Given the description of an element on the screen output the (x, y) to click on. 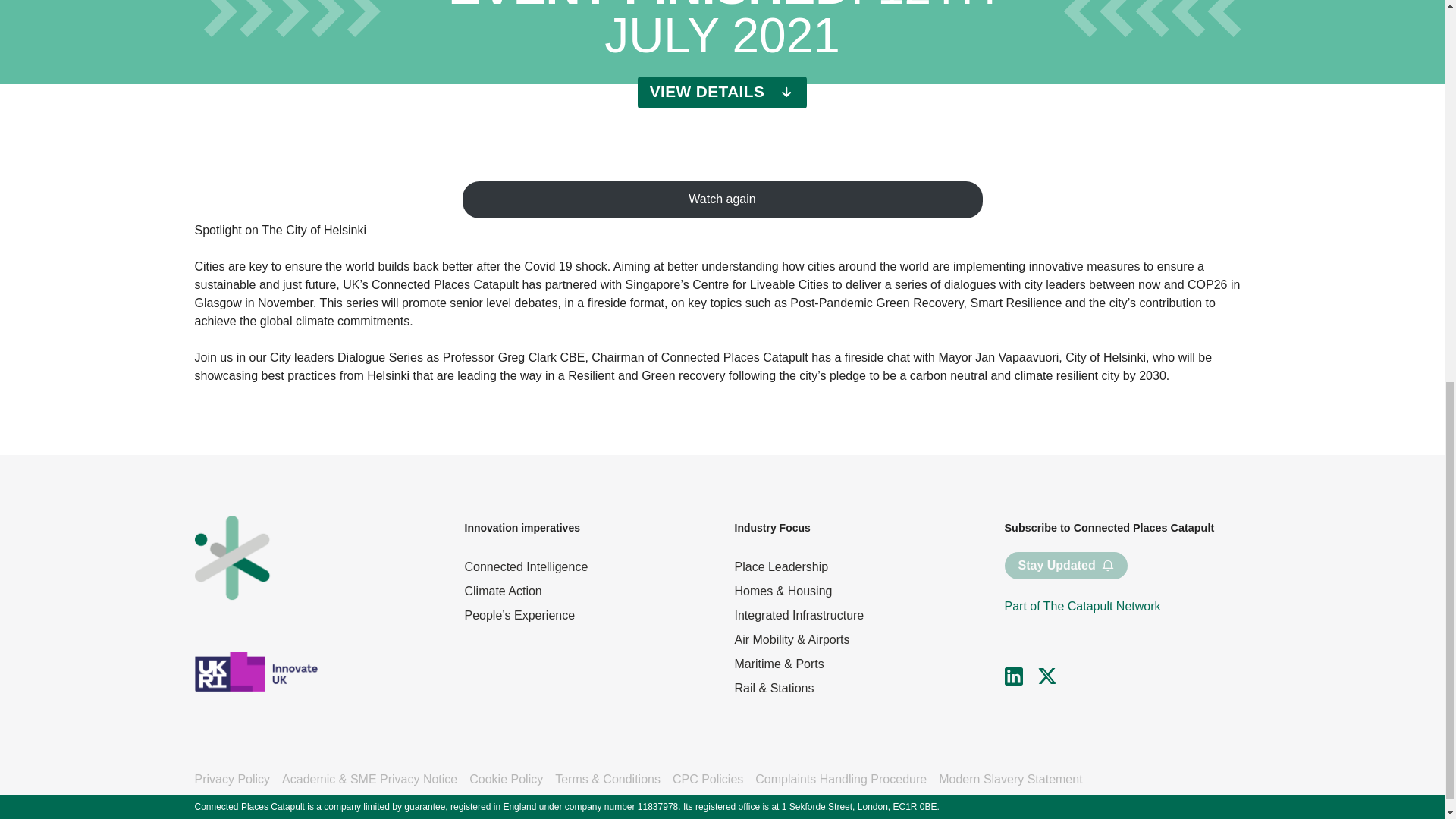
Marker.io tooltip UI (722, 44)
